Given the description of an element on the screen output the (x, y) to click on. 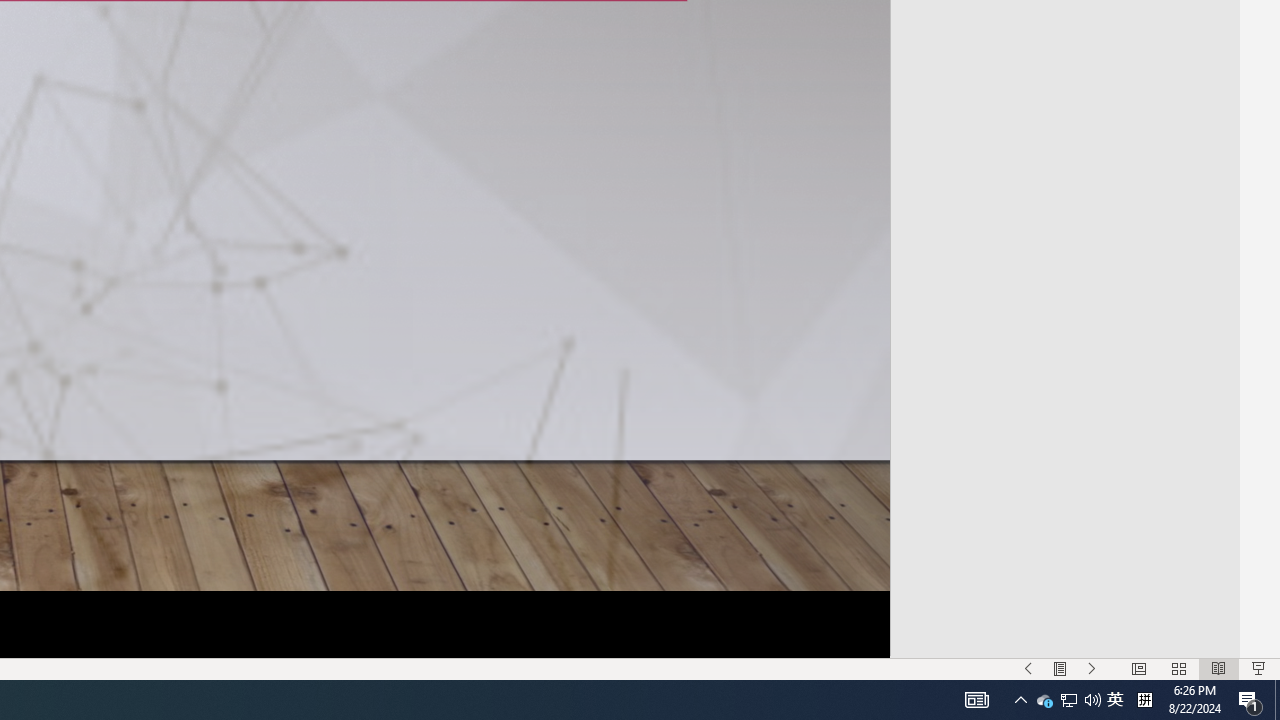
Menu On (1060, 668)
Slide Show Next On (1092, 668)
Action Center, 1 new notification (1044, 699)
Slide Show Previous On (1250, 699)
